Given the description of an element on the screen output the (x, y) to click on. 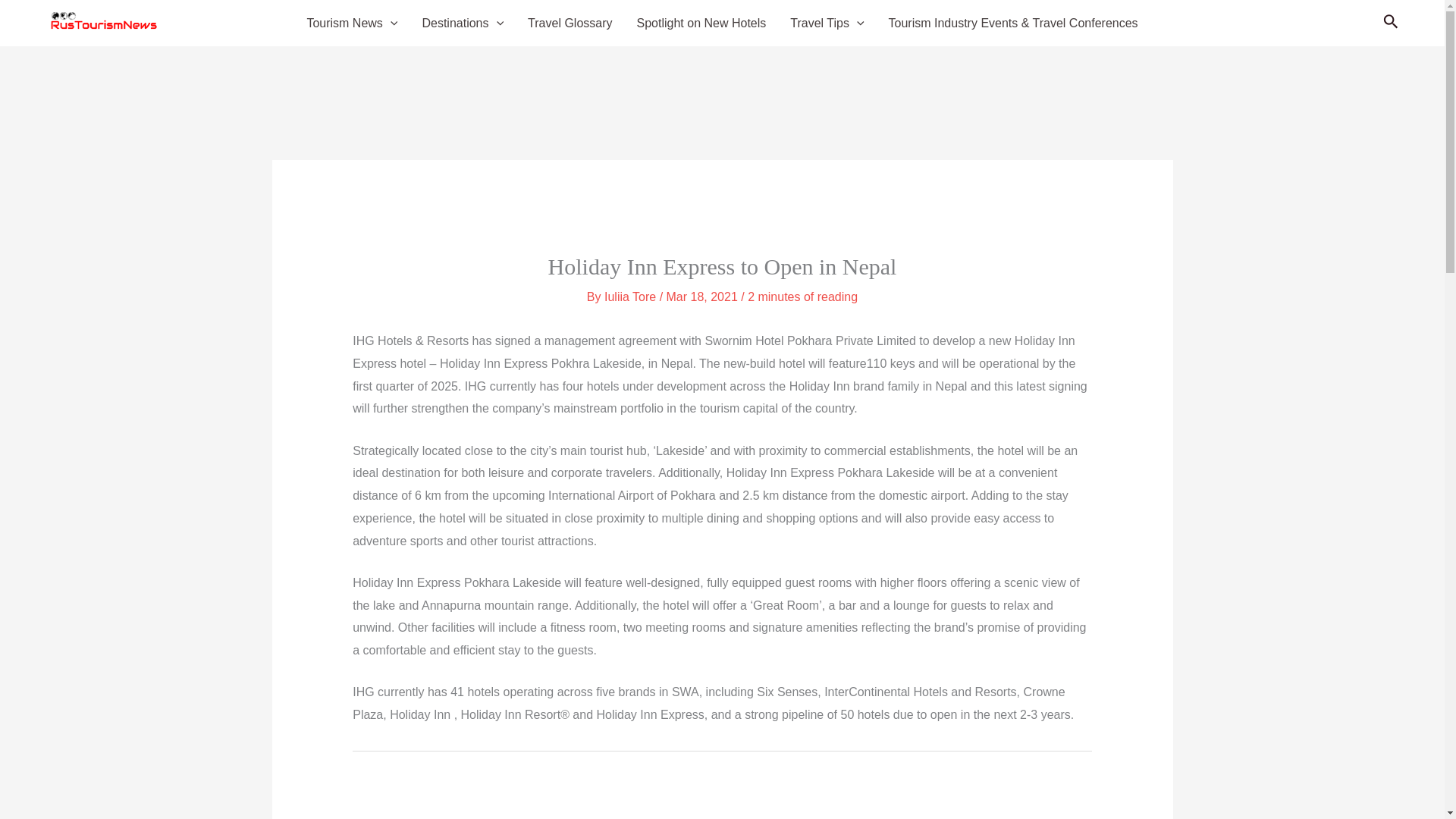
Tourism News (351, 23)
View all posts by Iuliia Tore (631, 296)
Destinations (462, 23)
